Given the description of an element on the screen output the (x, y) to click on. 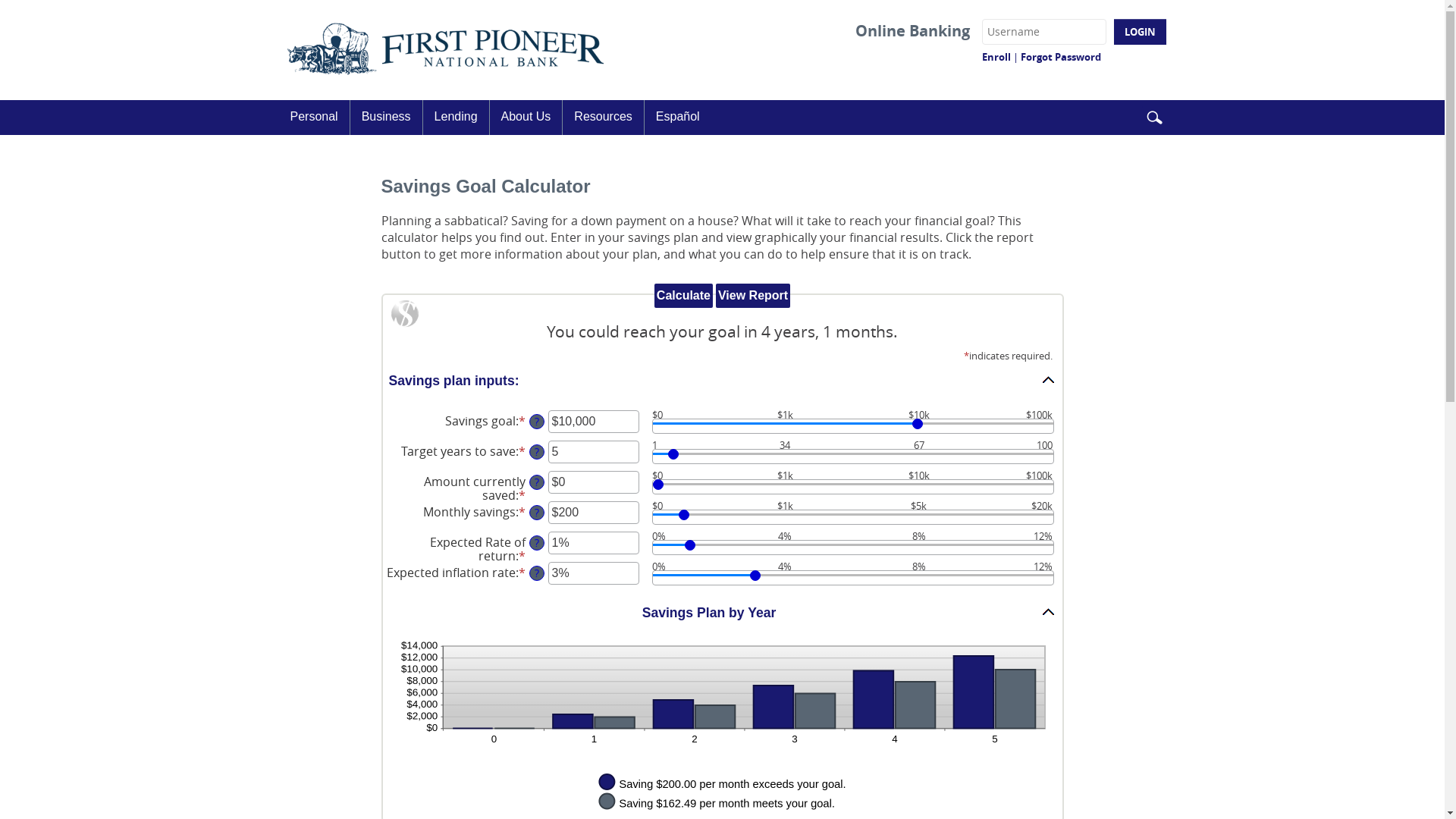
? Element type: text (536, 542)
Enroll
(opens in a new window) Element type: text (995, 56)
Amount currently saved slider Element type: hover (853, 486)
Savings goal slider Element type: hover (853, 425)
? Element type: text (536, 421)
? Element type: text (536, 512)
Expected Rate of return slider Element type: hover (853, 547)
? Element type: text (536, 572)
Expected inflation rate slider Element type: hover (853, 577)
Open search button Element type: text (1154, 118)
Forgot Password
(opens in a new window) Element type: text (1060, 56)
Target years to save slider Element type: hover (853, 456)
First Pioneer National Bank, Wray, CO Element type: hover (445, 49)
? Element type: text (536, 451)
Logo links to homepage Element type: text (445, 49)
LOGIN Element type: text (1139, 31)
? Element type: text (536, 481)
Monthly savings slider Element type: hover (853, 516)
